Given the description of an element on the screen output the (x, y) to click on. 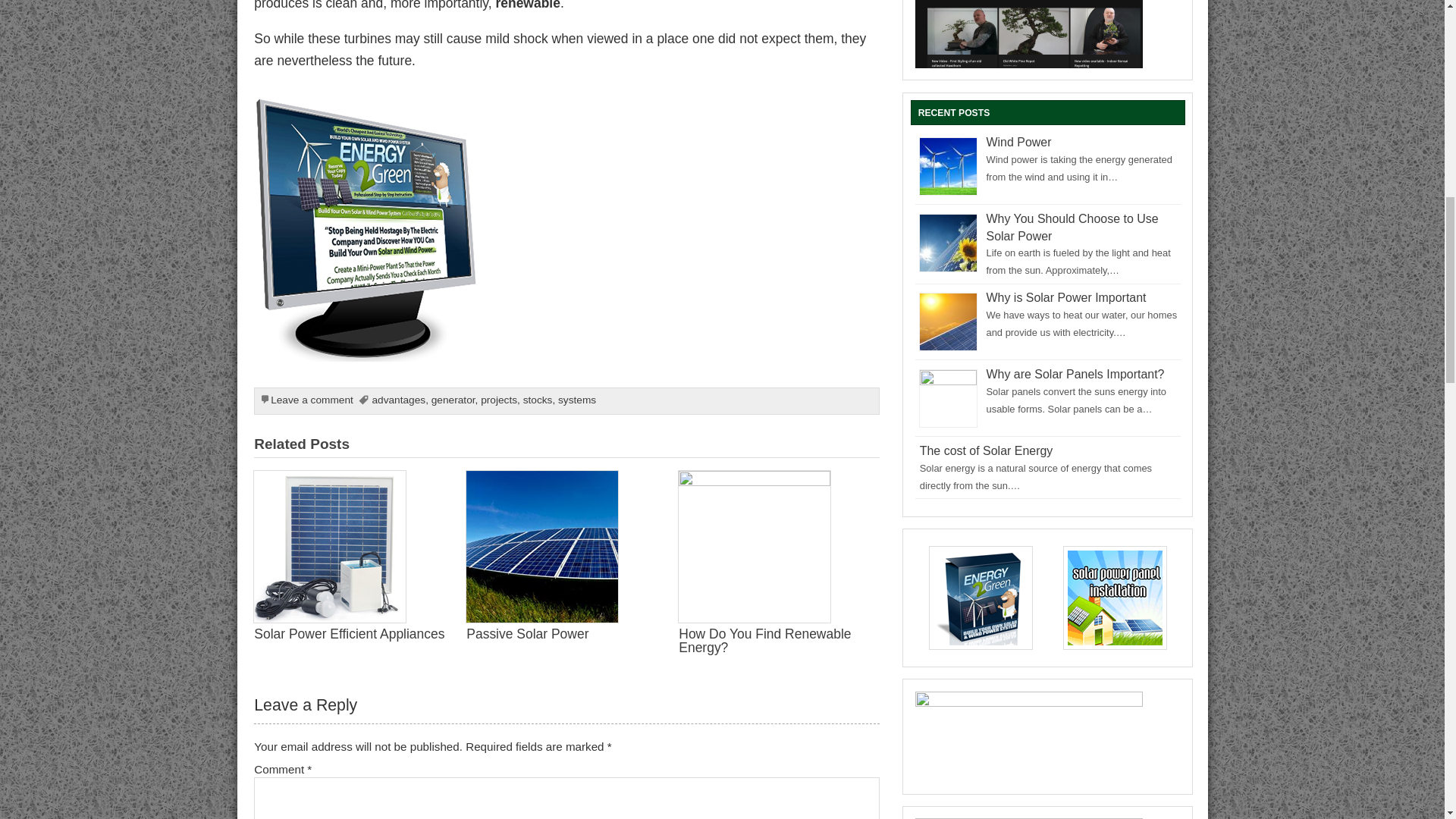
Build Your Own Wind and Solar Energy (367, 106)
systems (576, 399)
generator (453, 399)
projects (498, 399)
Why You Should Choose to Use Solar Power (1072, 227)
Wind Power (1019, 141)
Solar Power Efficient Appliances (348, 633)
Passive Solar Power (526, 633)
advantages (398, 399)
stocks (537, 399)
How Do You Find Renewable Energy? (764, 640)
Leave a comment (311, 399)
